Given the description of an element on the screen output the (x, y) to click on. 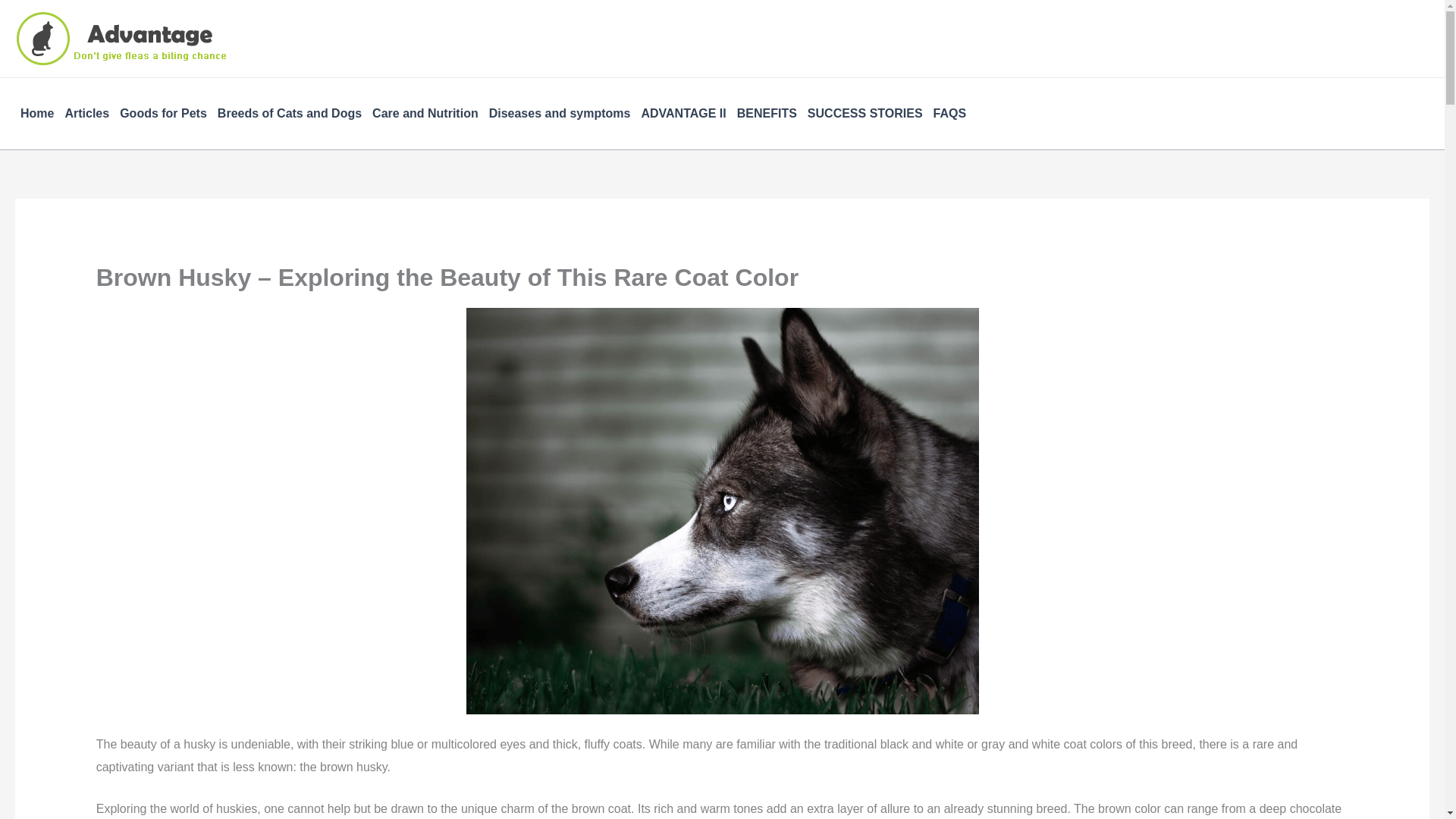
Goods for Pets (163, 113)
ADVANTAGE II (682, 113)
Breeds of Cats and Dogs (289, 113)
SUCCESS STORIES (865, 113)
Care and Nutrition (424, 113)
BENEFITS (767, 113)
Diseases and symptoms (559, 113)
